Given the description of an element on the screen output the (x, y) to click on. 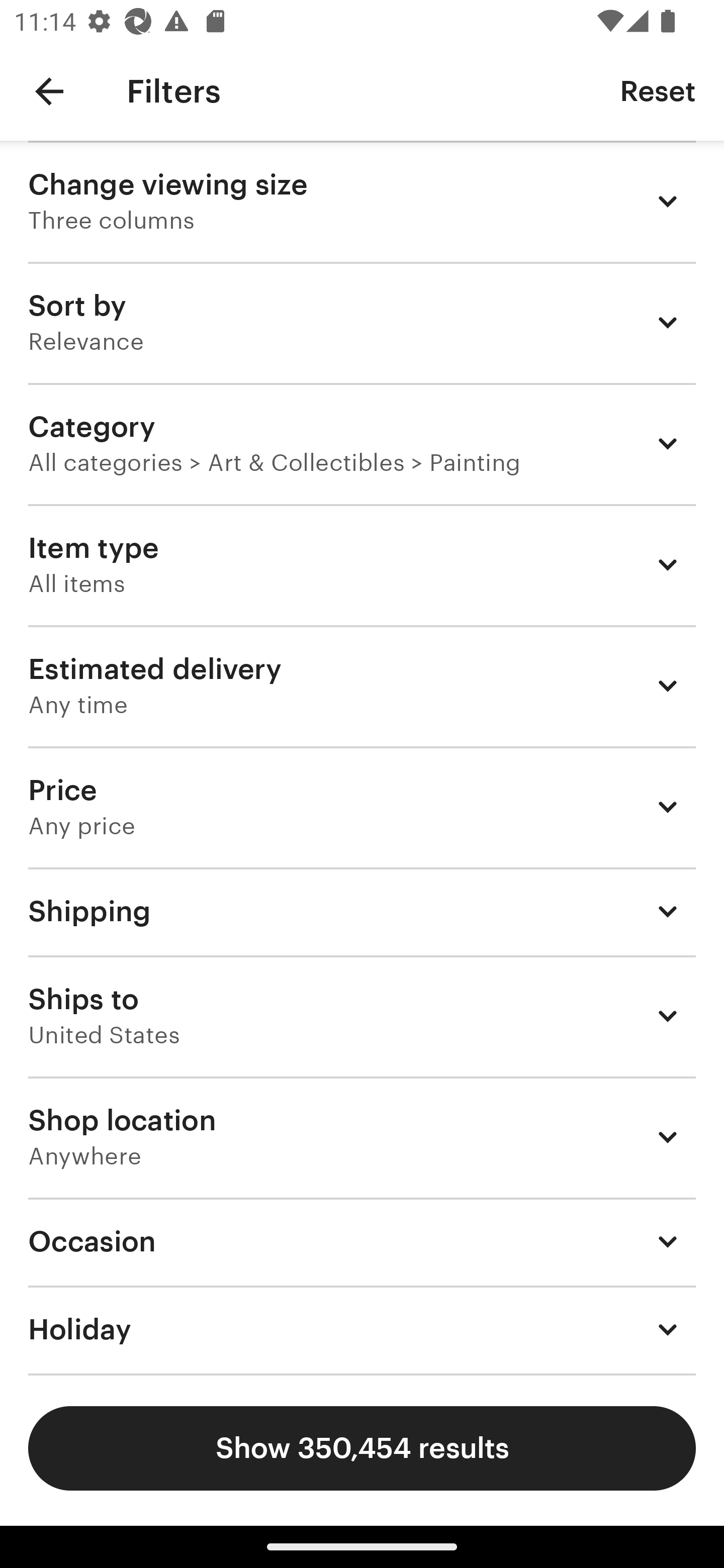
Navigate up (49, 91)
Reset (657, 90)
Change viewing size Three columns (362, 201)
Sort by Relevance (362, 321)
Item type All items (362, 564)
Estimated delivery Any time (362, 685)
Price Any price (362, 806)
Shipping (362, 910)
Ships to United States (362, 1015)
Shop location Anywhere (362, 1137)
Occasion (362, 1241)
Holiday (362, 1329)
Show 350,454 results Show results (361, 1448)
